Given the description of an element on the screen output the (x, y) to click on. 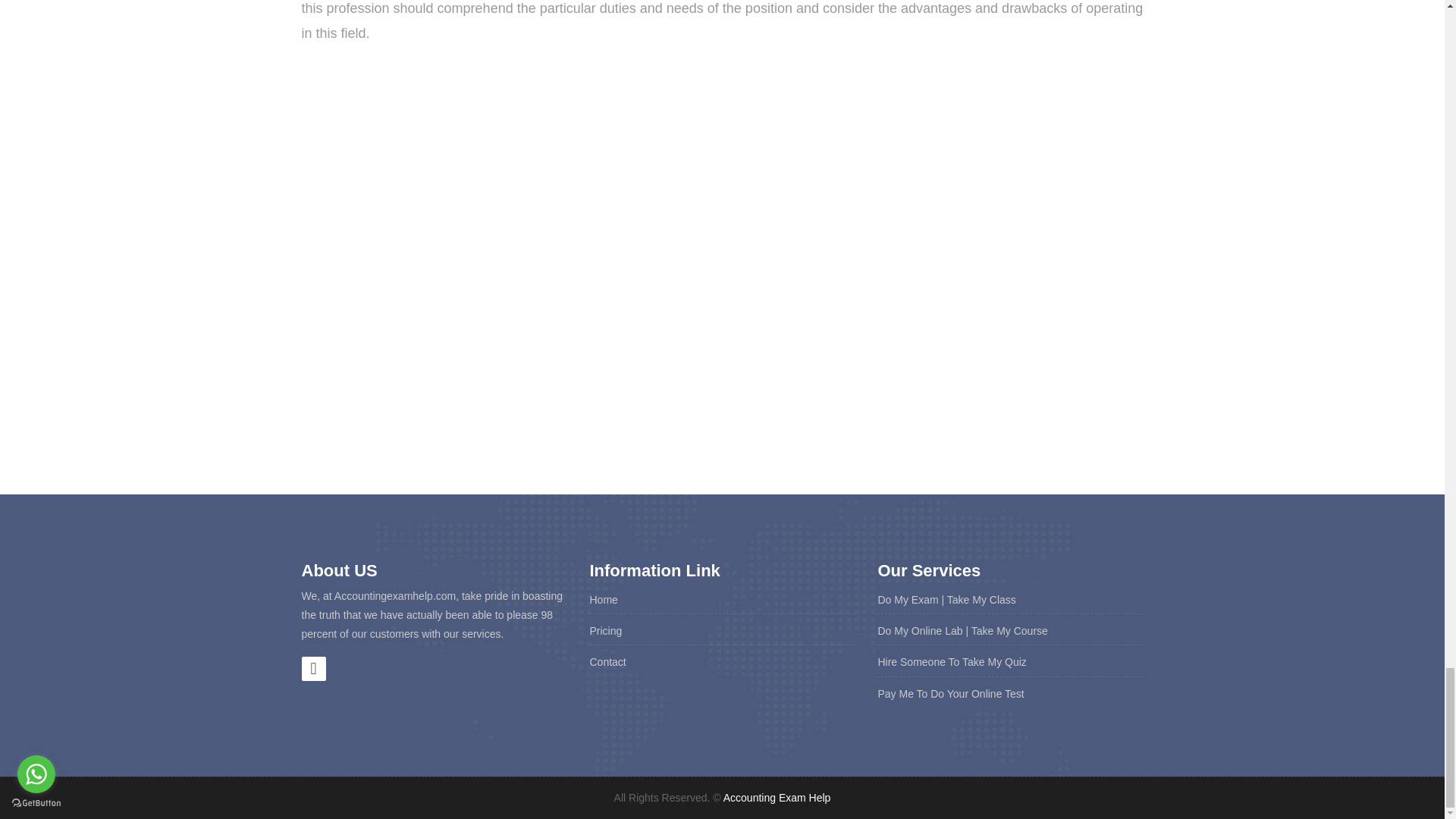
Do My Online Lab (919, 630)
Do My Exam (907, 599)
Pay Me To Do Your Online Test (950, 693)
Home (603, 599)
Hire Someone To Take My Quiz (951, 662)
Take My Course (1009, 630)
Pricing (605, 630)
Accounting Exam Help (777, 797)
Contact (607, 662)
Take My Class (981, 599)
